Given the description of an element on the screen output the (x, y) to click on. 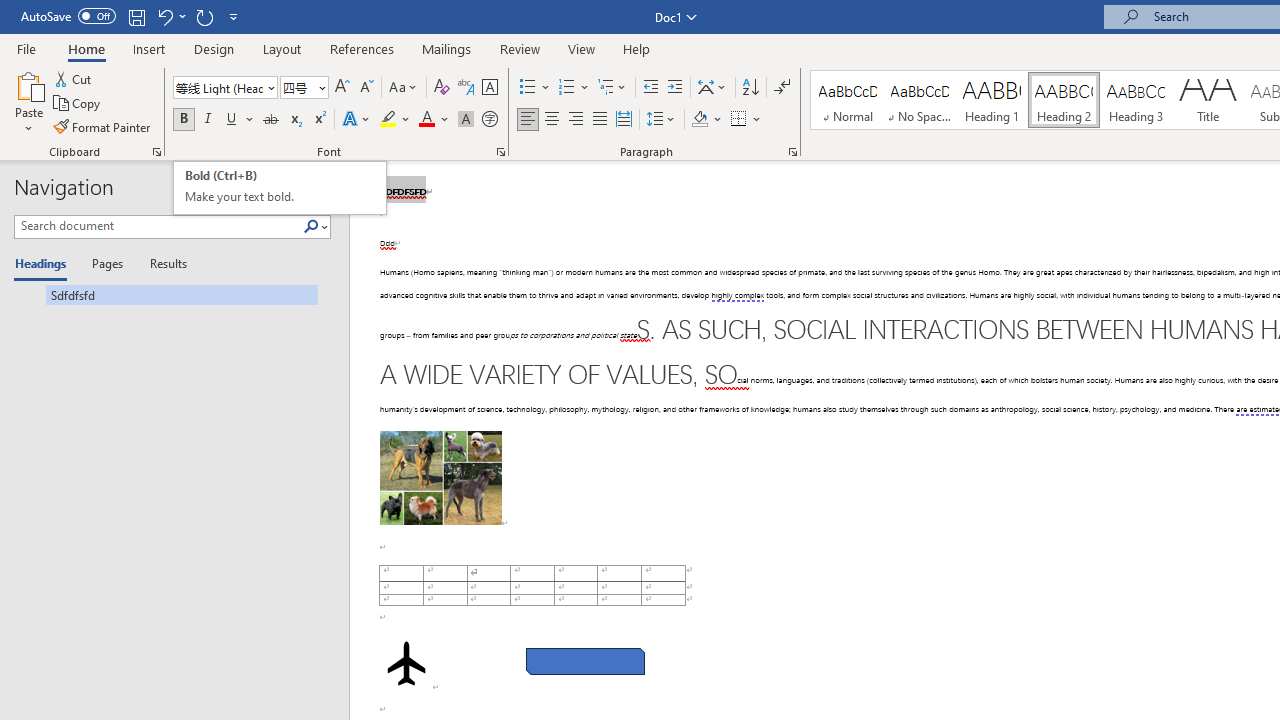
Character Border (489, 87)
Character Shading (465, 119)
Grow Font (342, 87)
Title (1208, 100)
Insert (149, 48)
Strikethrough (270, 119)
Subscript (294, 119)
File Tab (26, 48)
Open (320, 87)
Undo Bold (170, 15)
Multilevel List (613, 87)
Morphological variation in six dogs (440, 477)
